Given the description of an element on the screen output the (x, y) to click on. 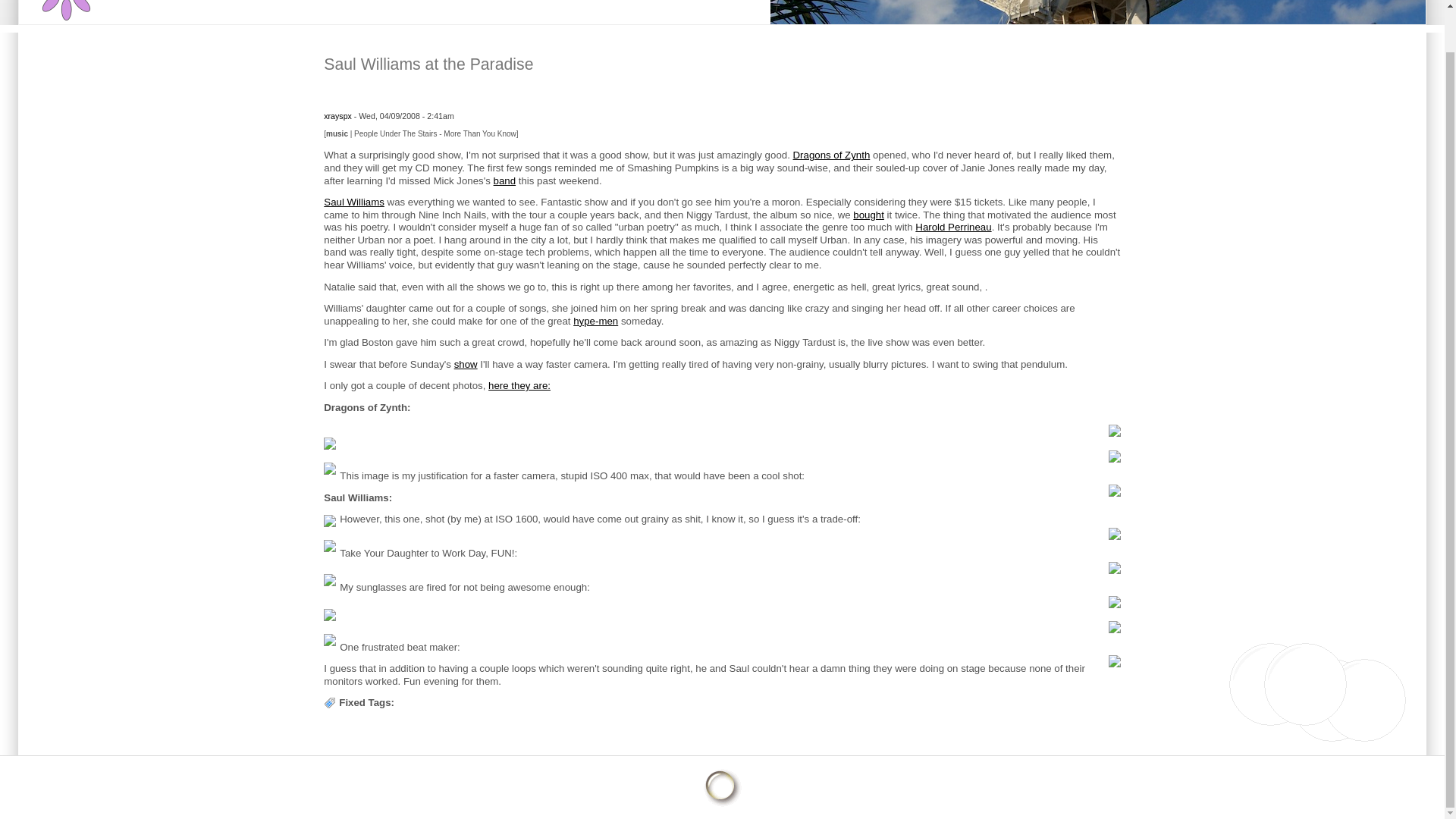
band (504, 180)
xrayspx (337, 115)
View user profile. (337, 115)
Dragons of Zynth (831, 154)
